Given the description of an element on the screen output the (x, y) to click on. 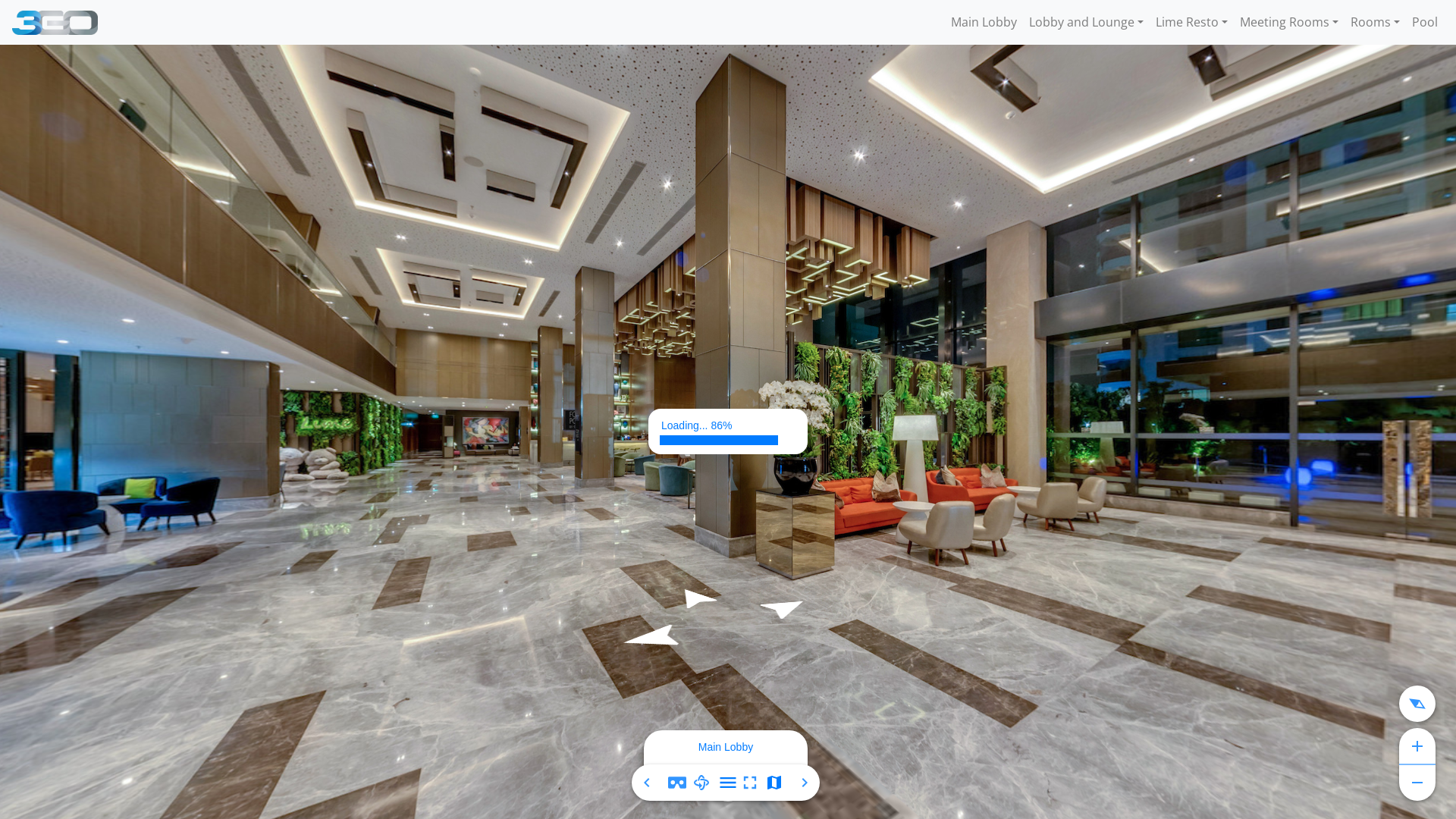
Lobby and Lounge Element type: text (1085, 21)
Pool Element type: text (1424, 21)
Main Lobby Element type: text (983, 21)
Meeting Rooms Element type: text (1288, 21)
Rooms Element type: text (1374, 21)
Lime Resto Element type: text (1191, 21)
